Given the description of an element on the screen output the (x, y) to click on. 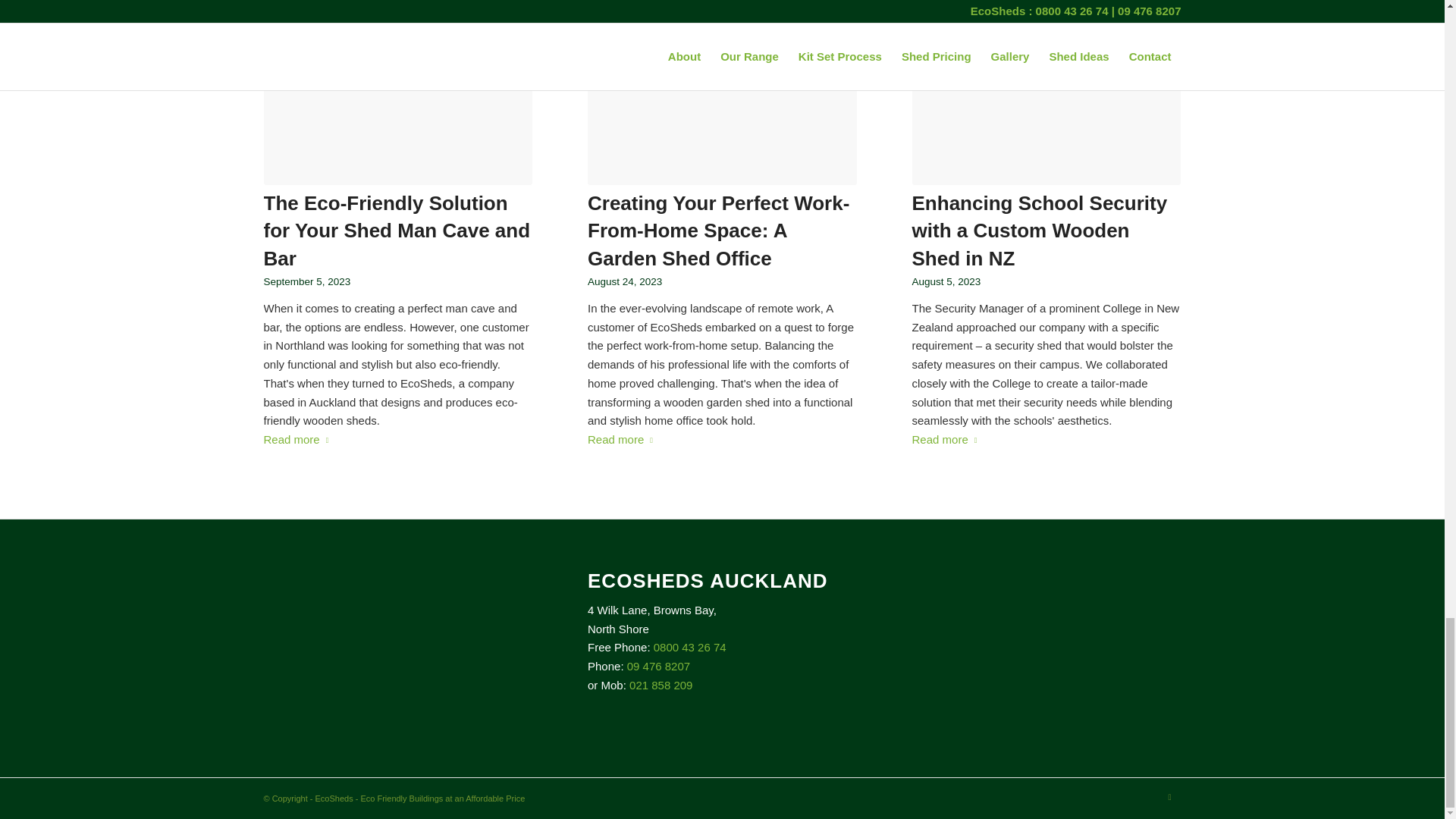
Enhancing School Security with a Custom Wooden Shed in NZ (1039, 230)
The Eco-Friendly Solution for Your Shed Man Cave and Bar (397, 230)
0800 43 26 74 (689, 646)
Read more (948, 439)
021 858 209 (660, 684)
09 476 8207 (658, 666)
Read more (298, 439)
Read more (623, 439)
